Given the description of an element on the screen output the (x, y) to click on. 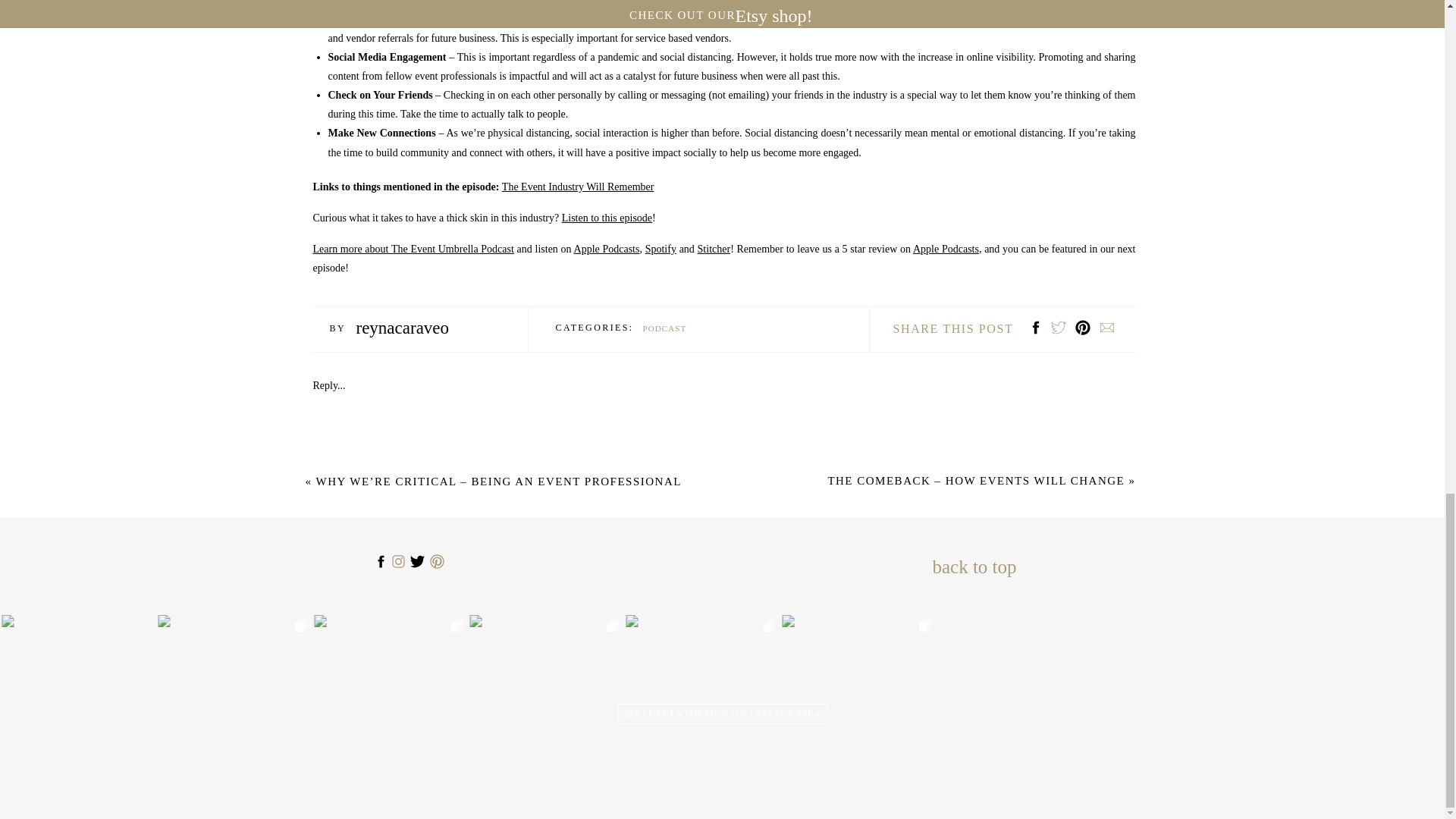
Learn more about The Event Umbrella Podcast (413, 248)
Apple Podcasts (606, 248)
Apple Podcasts (945, 248)
back to top (973, 563)
PODCAST (665, 327)
Stitcher (713, 248)
Listen to this episode (607, 217)
Spotify (661, 248)
The Event Industry Will Remember (577, 186)
